Given the description of an element on the screen output the (x, y) to click on. 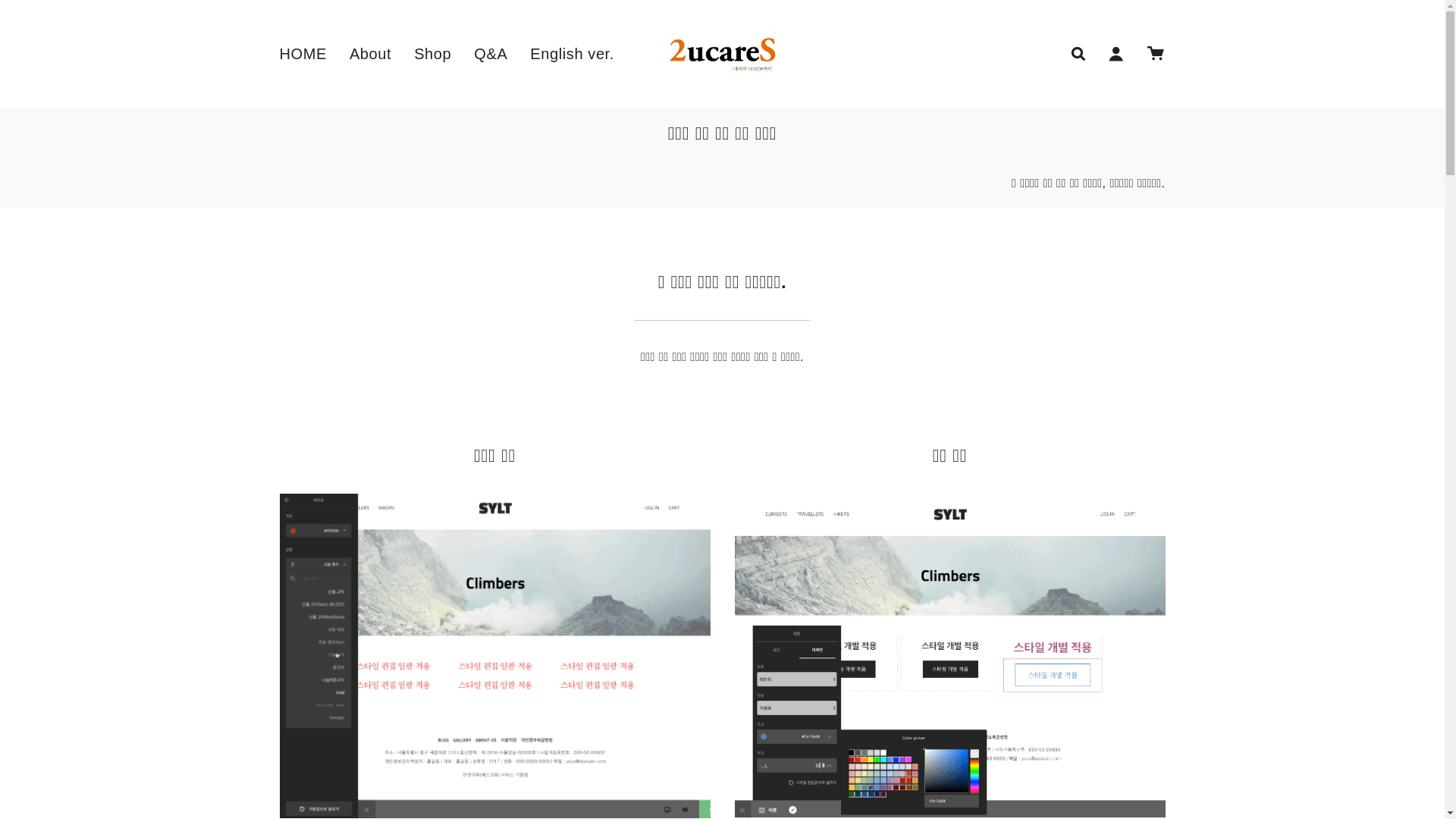
HOME Element type: text (302, 53)
Q&A Element type: text (490, 53)
Shop Element type: text (432, 53)
About Element type: text (370, 53)
English ver. Element type: text (572, 53)
